Given the description of an element on the screen output the (x, y) to click on. 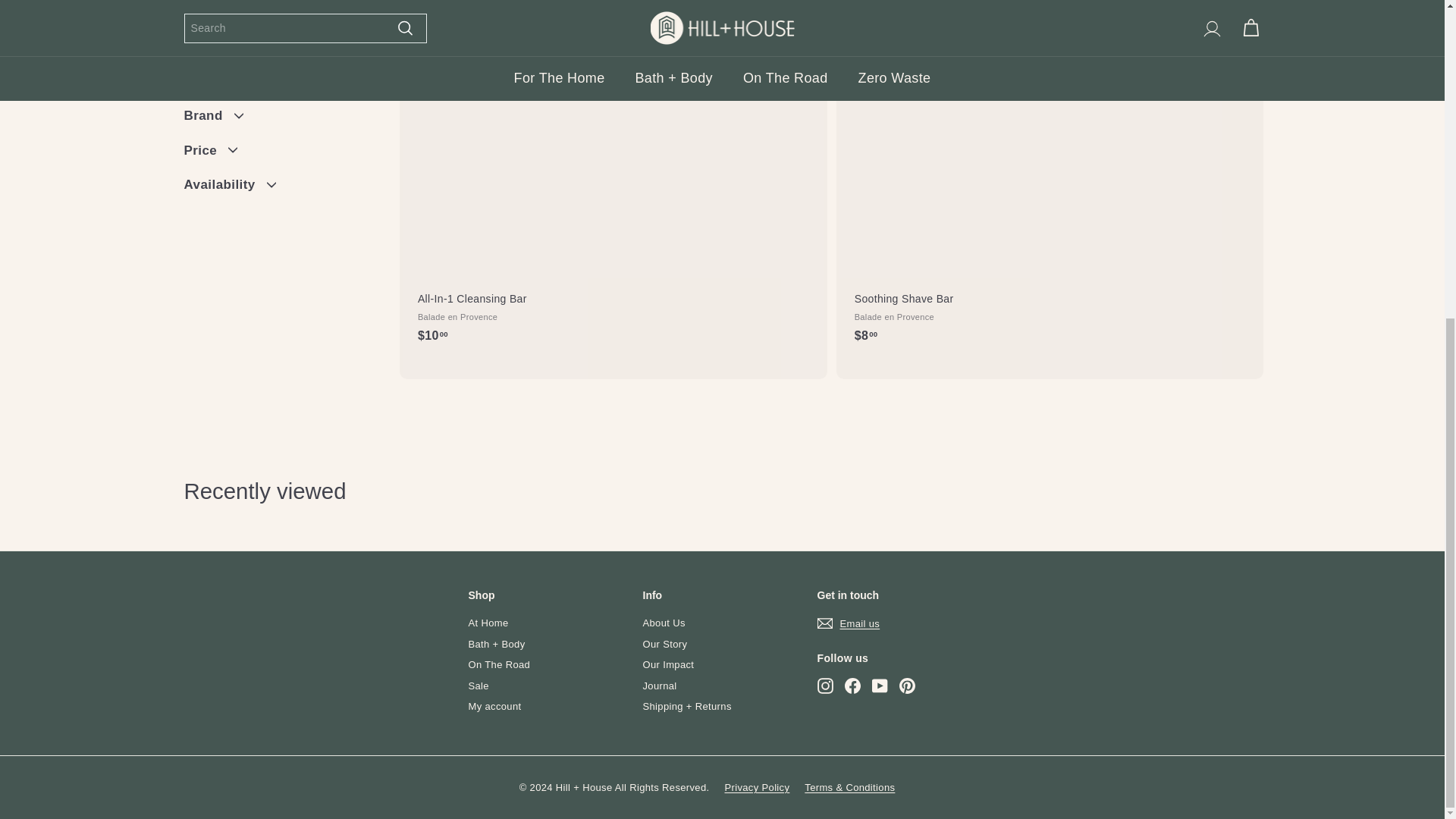
instagram (824, 685)
